Given the description of an element on the screen output the (x, y) to click on. 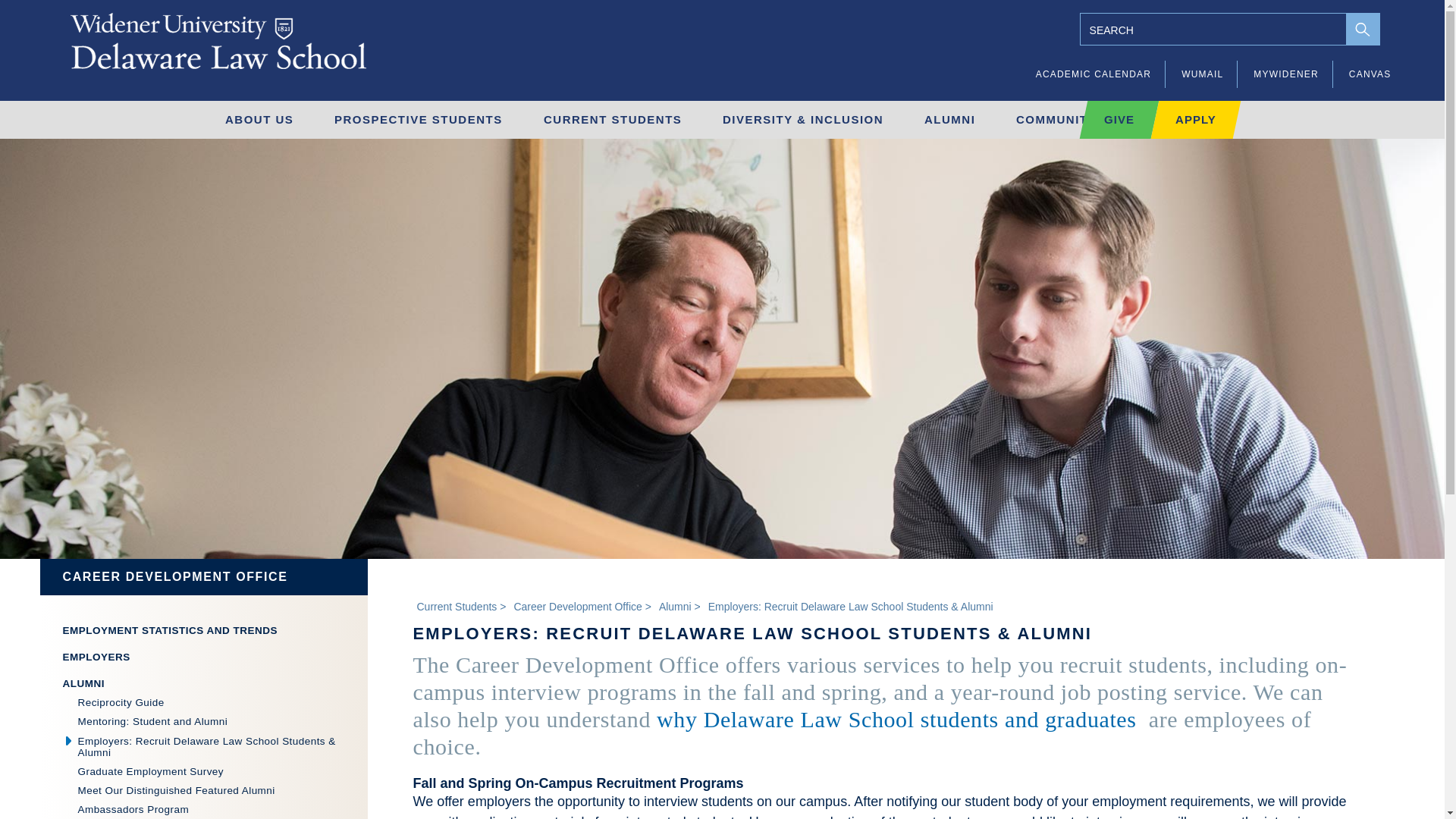
ACADEMIC CALENDAR (1093, 73)
CANVAS (1369, 73)
ABOUT US (254, 119)
WUMAIL (1201, 73)
MYWIDENER (1285, 73)
